Given the description of an element on the screen output the (x, y) to click on. 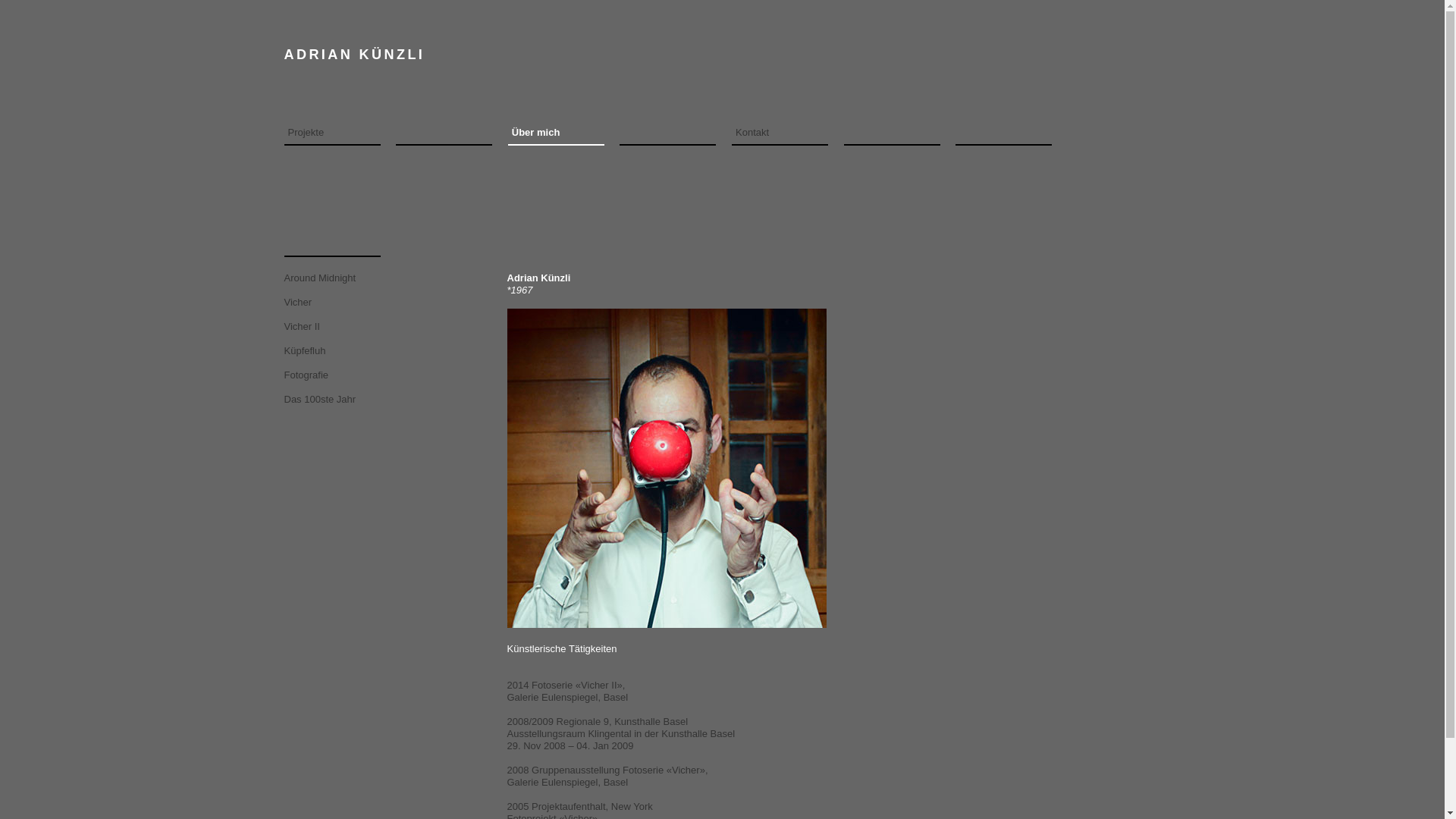
Projekte Element type: text (334, 132)
Fotografie Element type: text (339, 375)
Das 100ste Jahr Element type: text (339, 399)
Around Midnight Element type: text (339, 278)
Vicher II Element type: text (339, 326)
Kontakt Element type: text (781, 132)
Vicher Element type: text (339, 302)
